Given the description of an element on the screen output the (x, y) to click on. 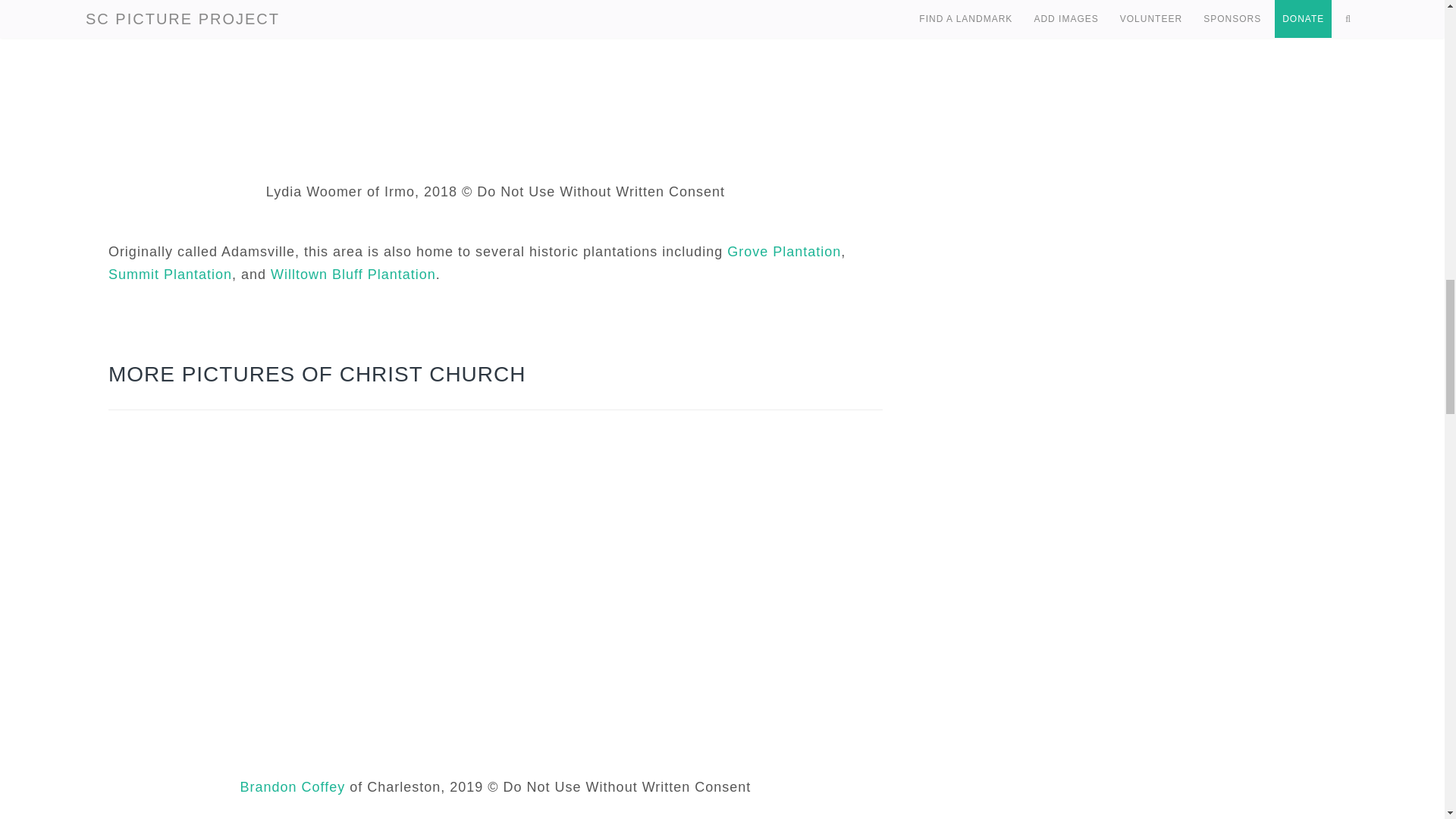
Willtown Bluff Plantation (352, 273)
Brandon Coffey (292, 786)
Grove Plantation (783, 251)
Summit Plantation (169, 273)
